Given the description of an element on the screen output the (x, y) to click on. 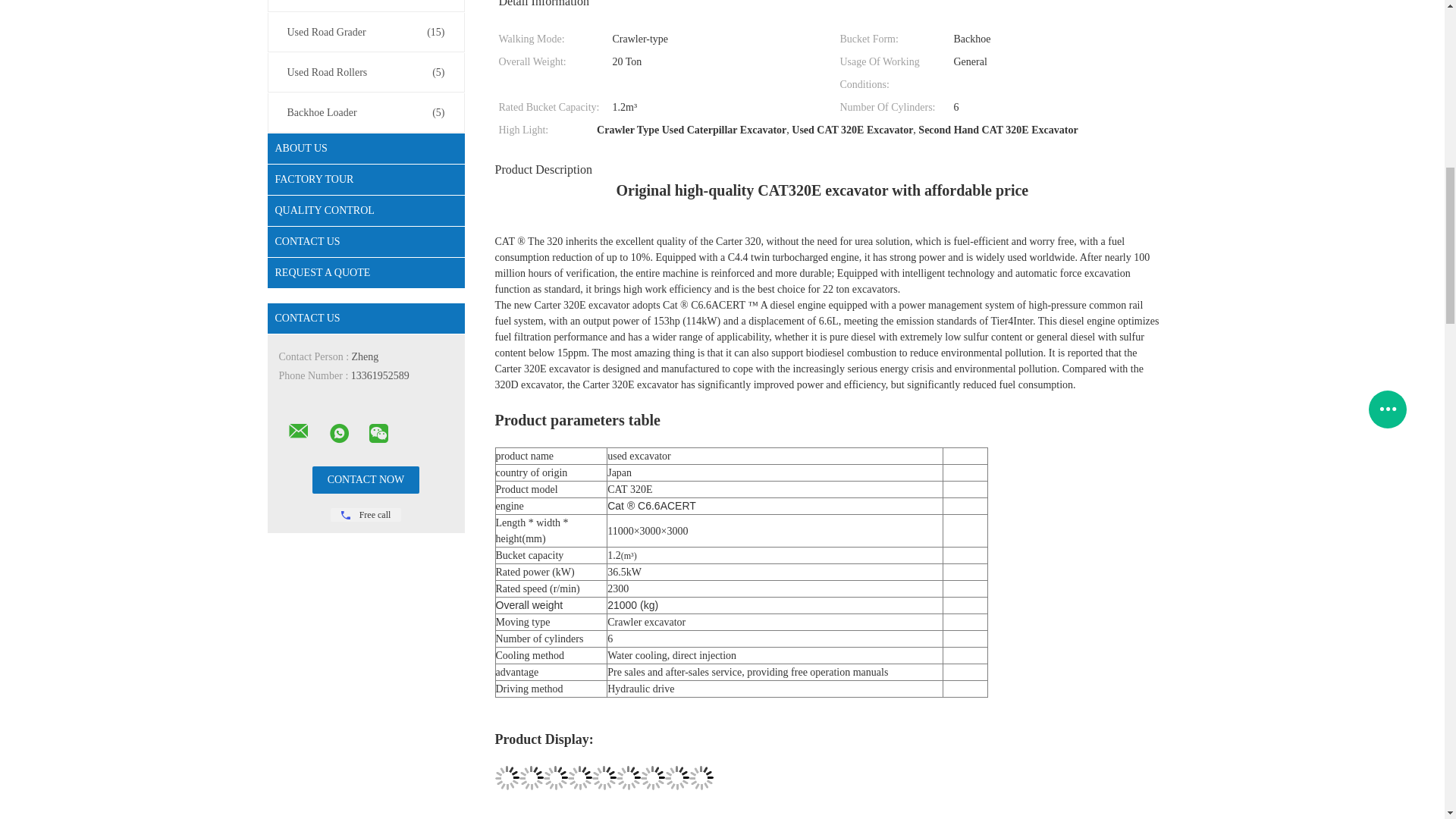
Contact Now (366, 479)
